Given the description of an element on the screen output the (x, y) to click on. 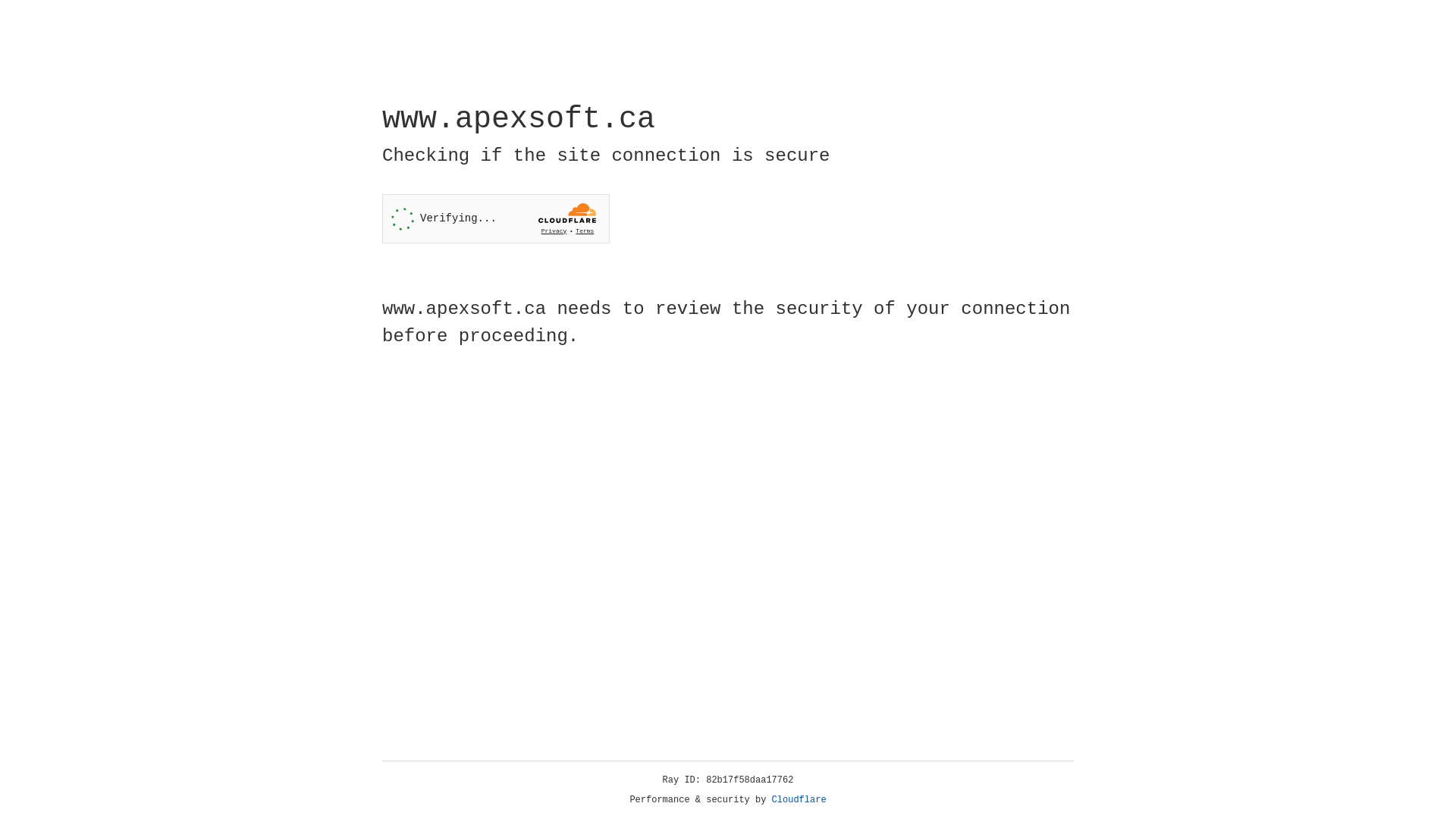
Cloudflare Element type: text (798, 799)
Widget containing a Cloudflare security challenge Element type: hover (495, 218)
